Given the description of an element on the screen output the (x, y) to click on. 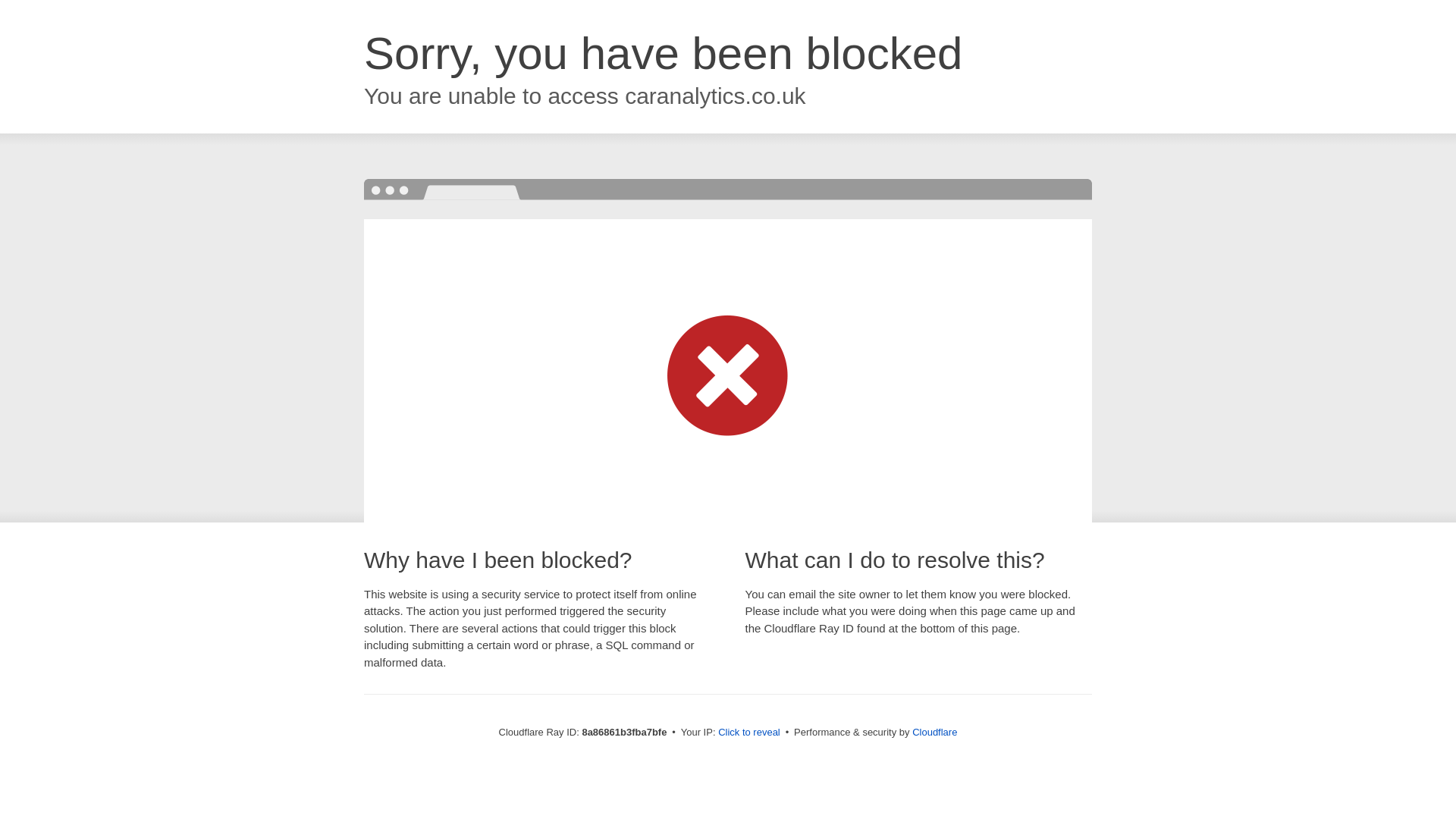
Click to reveal (748, 732)
Cloudflare (934, 731)
